Given the description of an element on the screen output the (x, y) to click on. 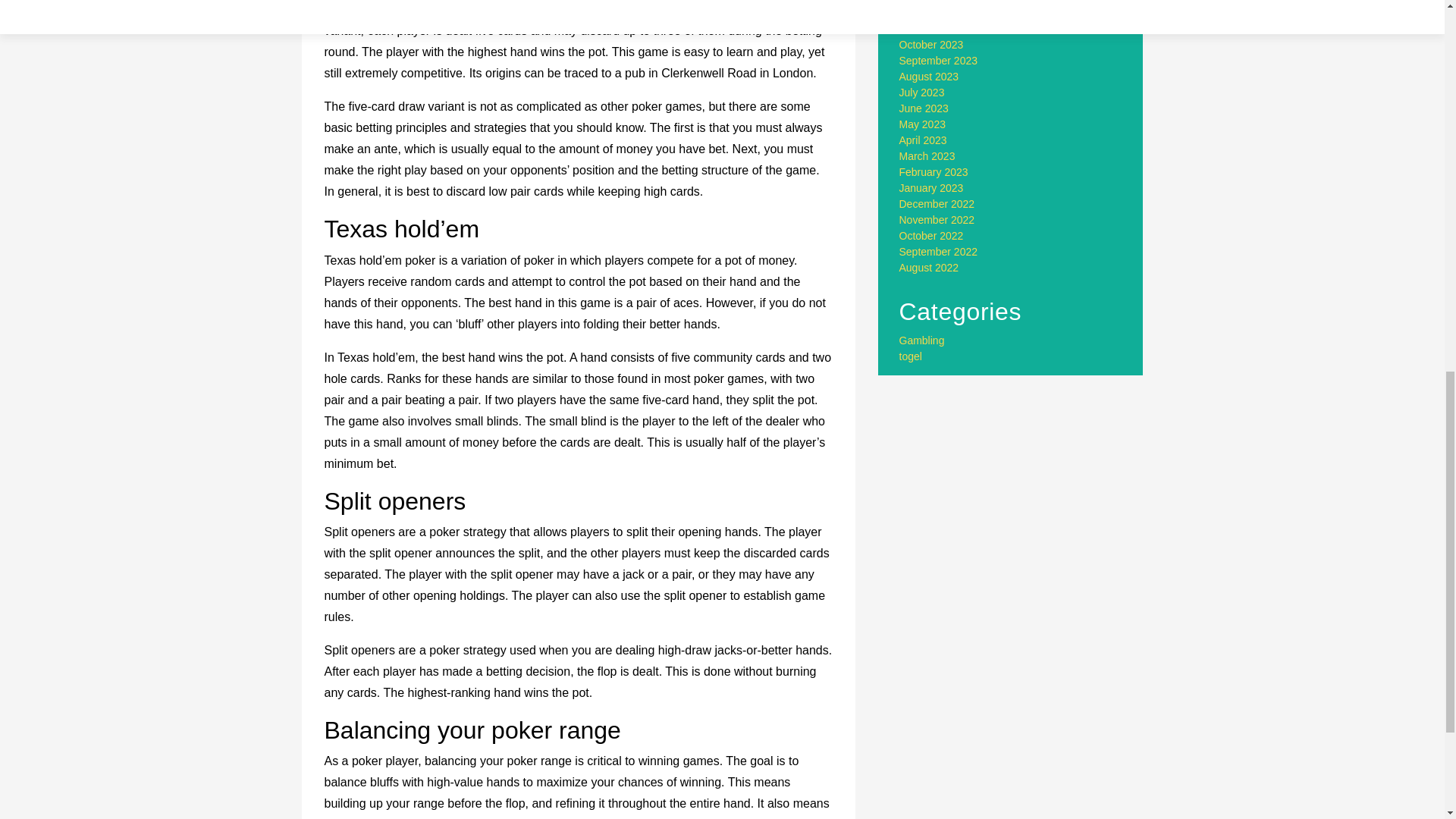
Gambling (921, 340)
February 2023 (933, 172)
November 2023 (937, 28)
January 2023 (931, 187)
September 2023 (938, 60)
November 2022 (937, 219)
January 2024 (931, 1)
September 2022 (938, 251)
June 2023 (924, 108)
togel (910, 356)
August 2023 (929, 76)
December 2023 (937, 12)
March 2023 (927, 155)
October 2023 (931, 44)
October 2022 (931, 235)
